Given the description of an element on the screen output the (x, y) to click on. 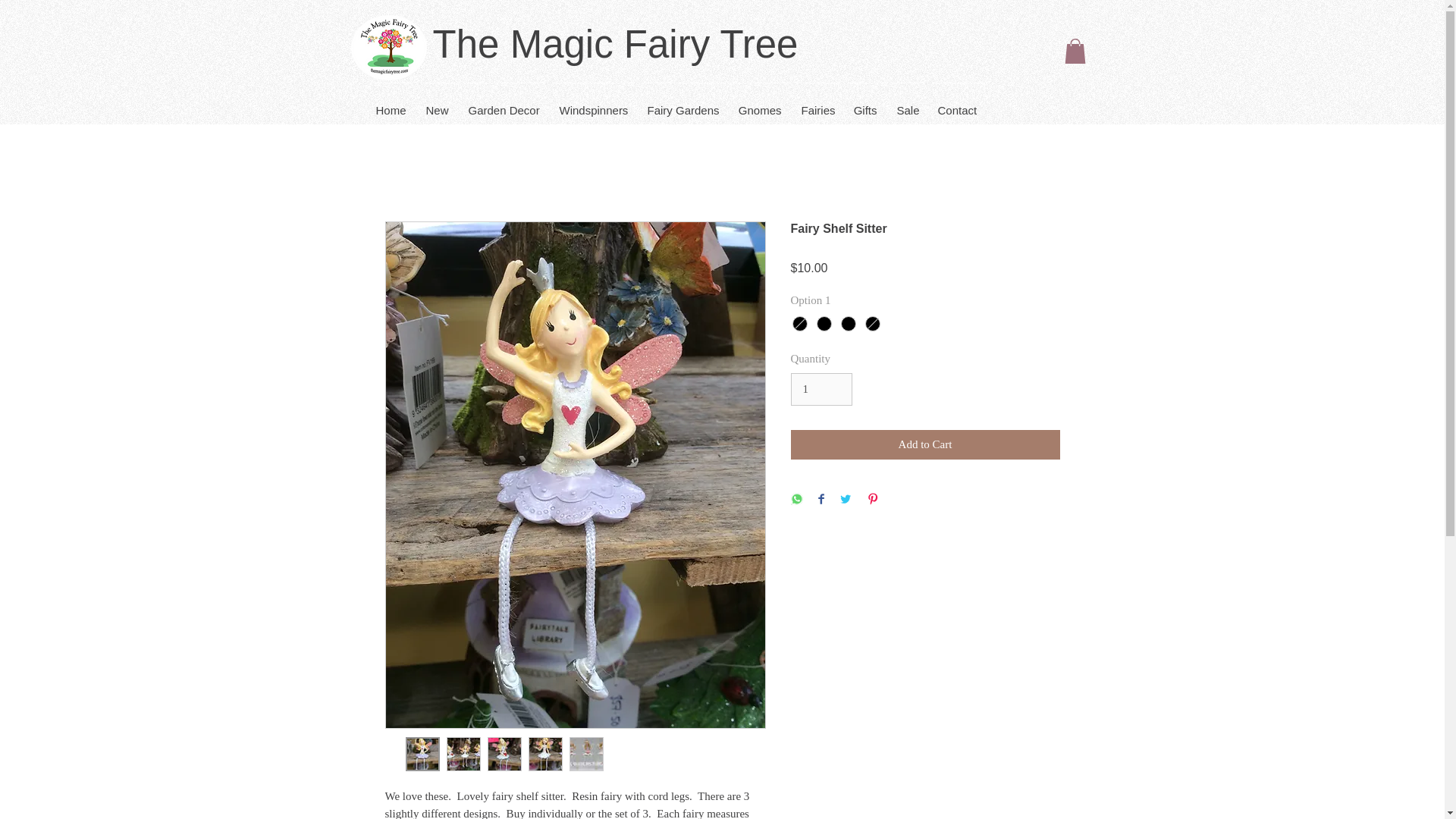
The Magic Fairy Tree (614, 44)
1 (820, 389)
Fairy Gardens (682, 103)
Gnomes (759, 103)
New (436, 103)
Home (389, 103)
Fairies (818, 103)
Windspinners (592, 103)
Gifts (864, 103)
Garden Decor (503, 103)
